Given the description of an element on the screen output the (x, y) to click on. 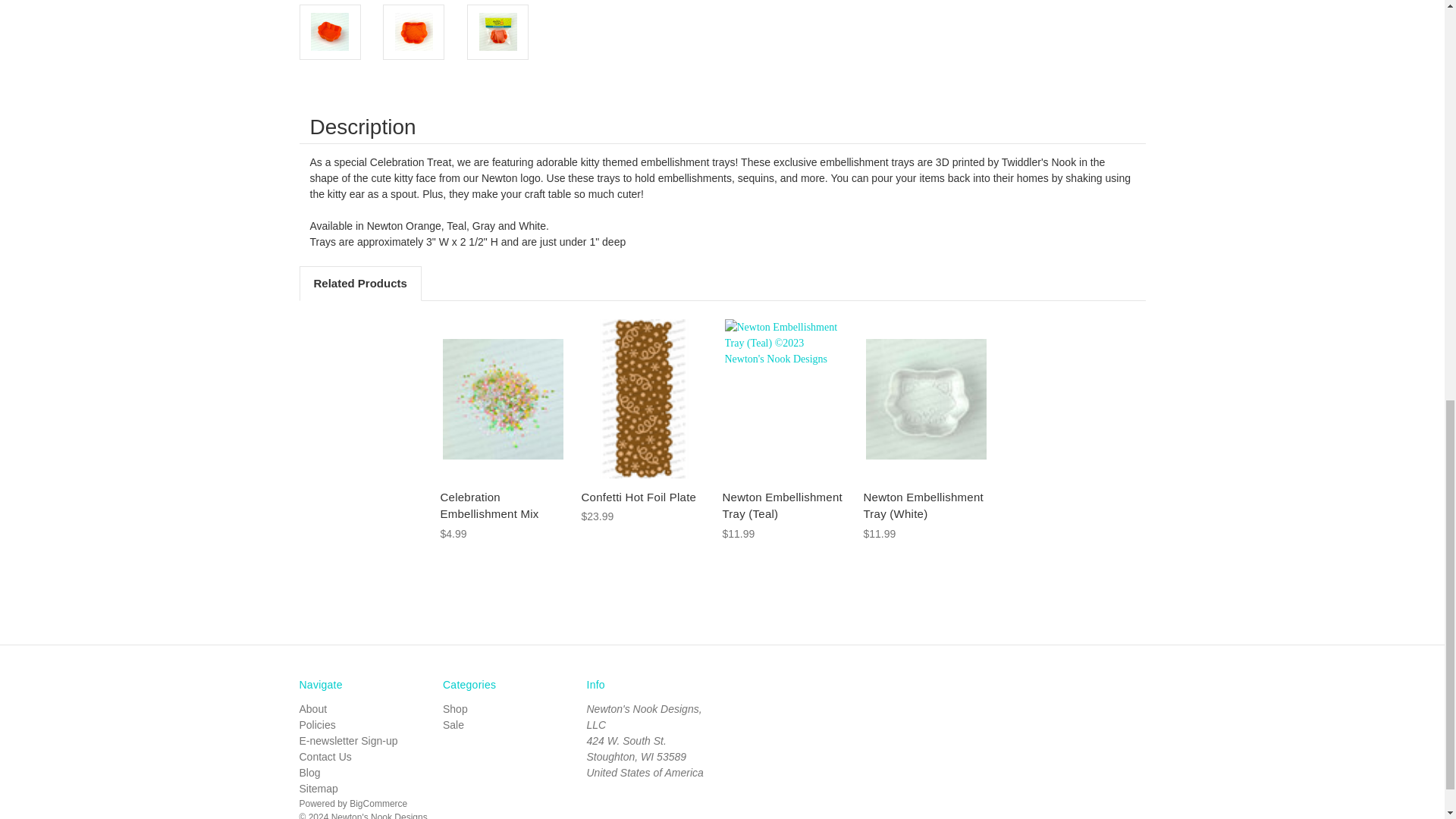
American Express (752, 695)
Discover (797, 695)
Mastercard (844, 695)
PayPal (889, 695)
Visa (934, 695)
